Given the description of an element on the screen output the (x, y) to click on. 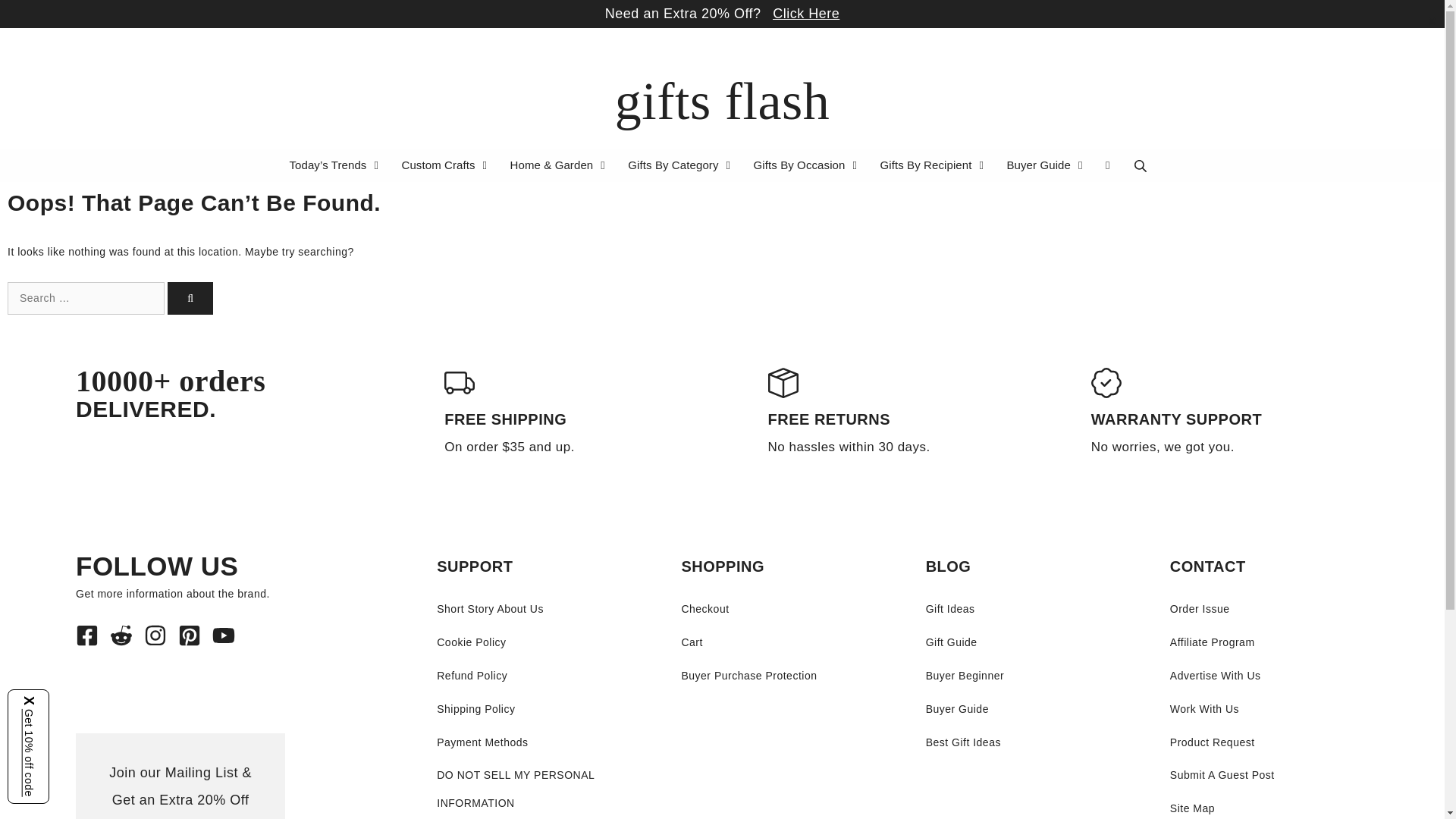
Search for: (85, 297)
Custom Crafts (445, 164)
Click Here (806, 13)
gifts flash (721, 101)
